Given the description of an element on the screen output the (x, y) to click on. 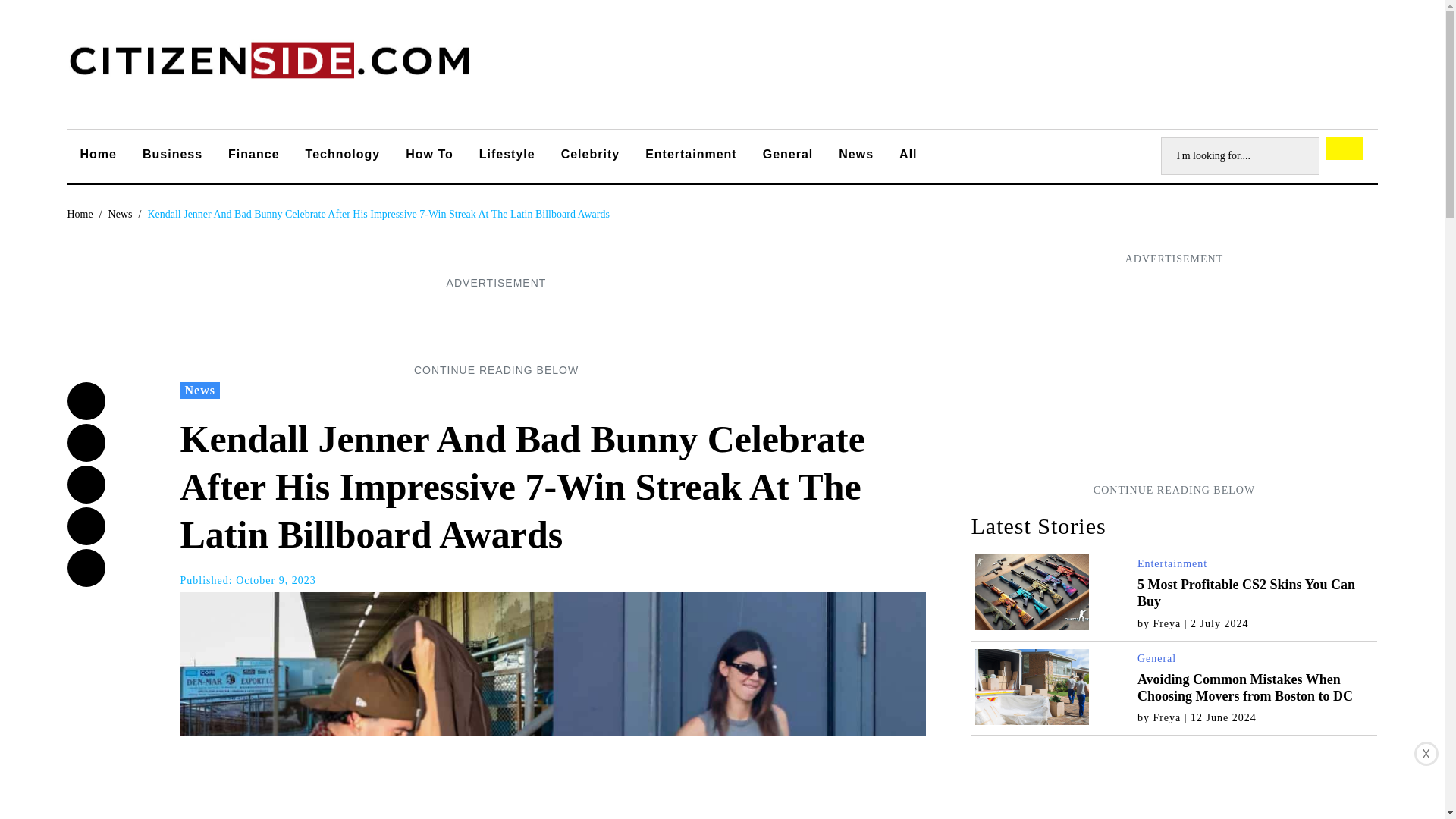
Share on Facebook (85, 401)
General (788, 156)
Home (79, 214)
Share on Pinterest (85, 567)
5 Most Profitable CS2 Skins You Can Buy (1246, 593)
Home (97, 156)
Search for: (1239, 156)
News (119, 214)
News (119, 214)
Share on LinkedIn (85, 525)
Entertainment (690, 156)
Technology (342, 156)
Finance (253, 156)
Home (79, 214)
LinkedIn (85, 525)
